Given the description of an element on the screen output the (x, y) to click on. 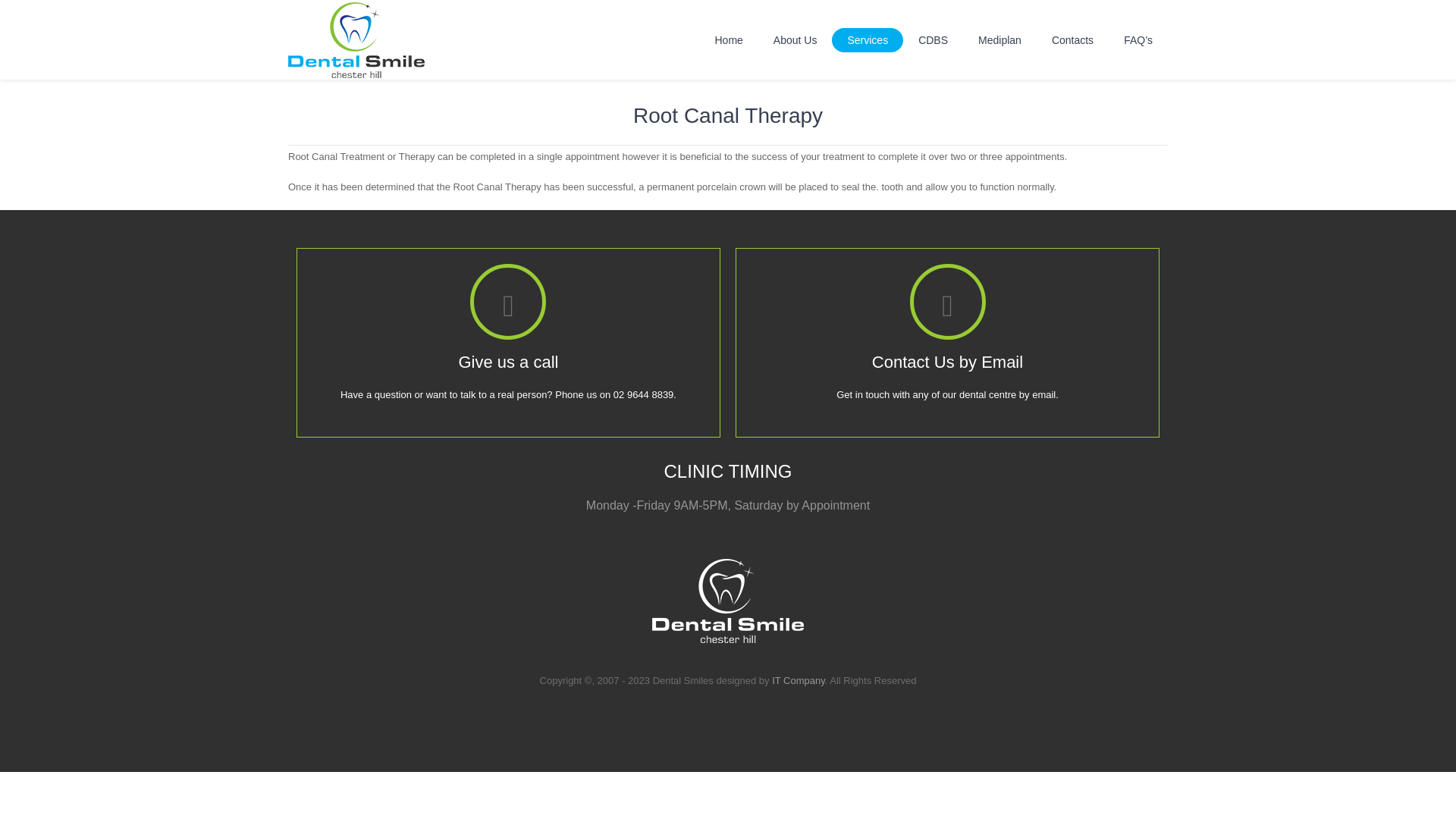
Dental Smiles Element type: hover (728, 600)
IT Company Element type: text (798, 680)
About Us Element type: text (795, 39)
Give us a call Element type: text (508, 361)
CDBS Element type: text (932, 39)
Contact Us by Email Element type: text (947, 361)
Services Element type: text (867, 39)
Mediplan Element type: text (999, 39)
Home Element type: text (728, 39)
Contacts Element type: text (1072, 39)
